Given the description of an element on the screen output the (x, y) to click on. 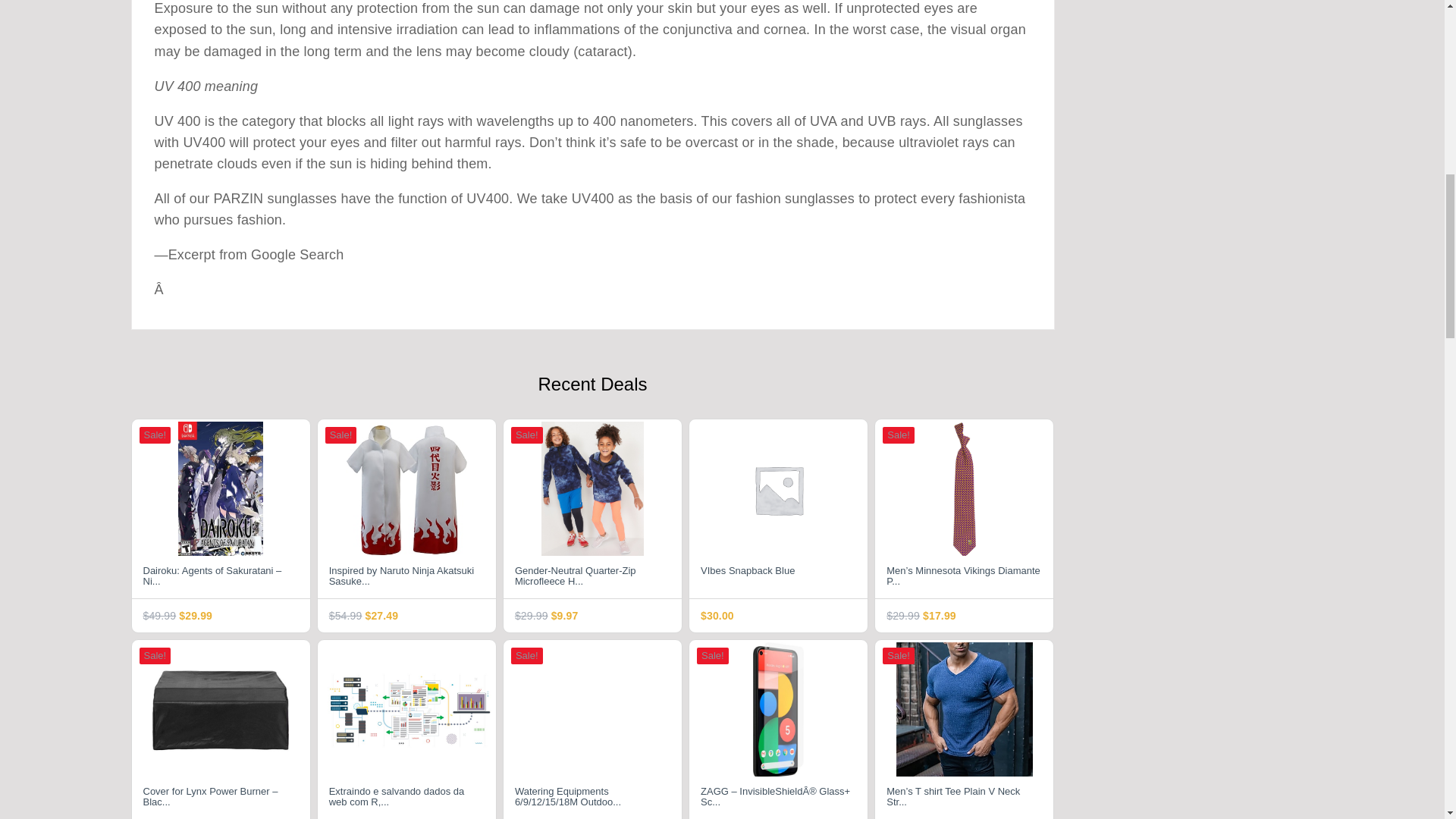
Extraindo e salvando dados da web com R, Selenium e MySQL (406, 797)
VIbes Snapback Blue (777, 576)
Gender-Neutral Quarter-Zip Microfleece Hoodie For Kids (592, 576)
